Given the description of an element on the screen output the (x, y) to click on. 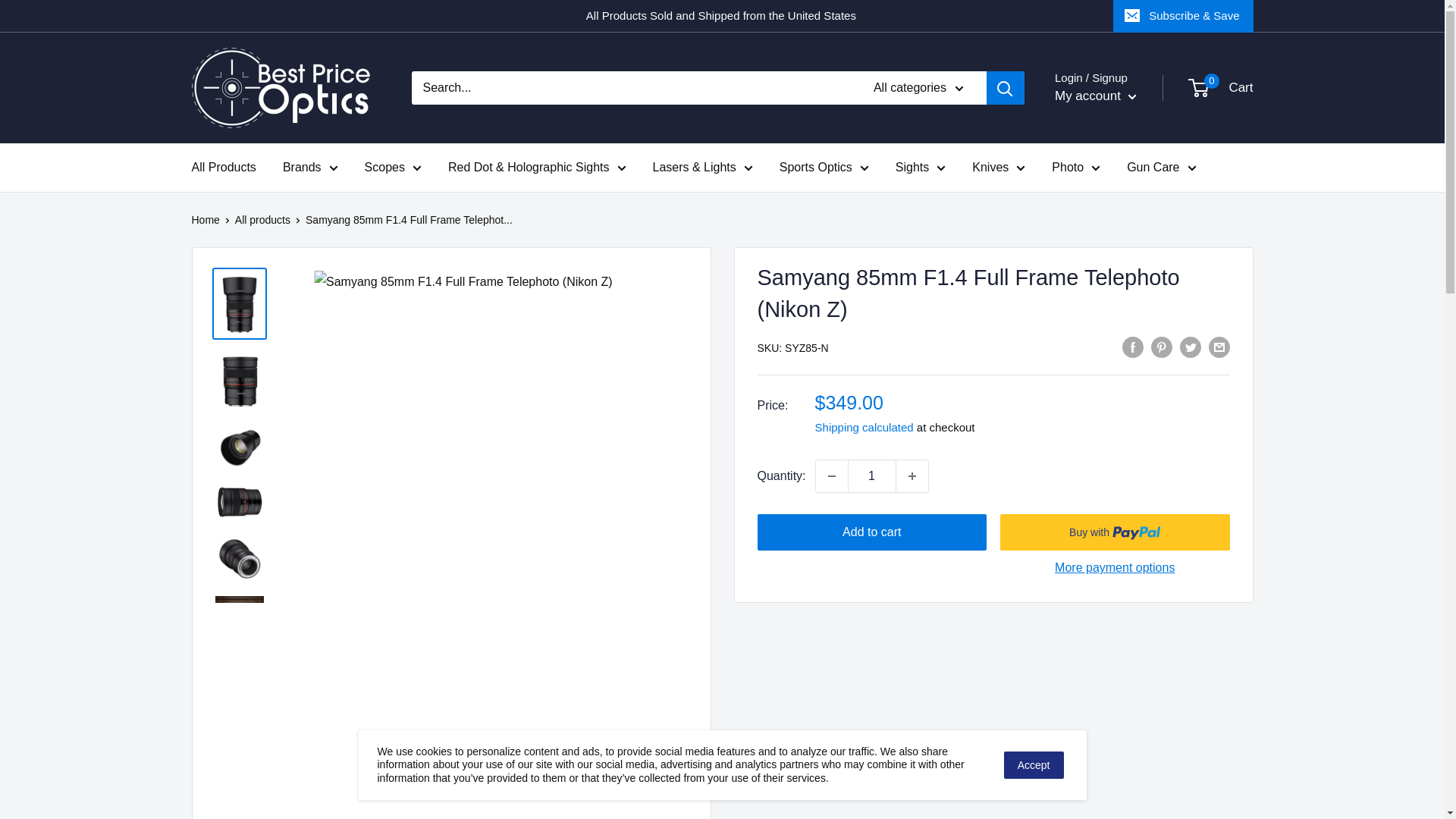
All Products Sold and Shipped from the United States (652, 15)
Decrease quantity by 1 (831, 476)
Increase quantity by 1 (912, 476)
1 (871, 476)
